Given the description of an element on the screen output the (x, y) to click on. 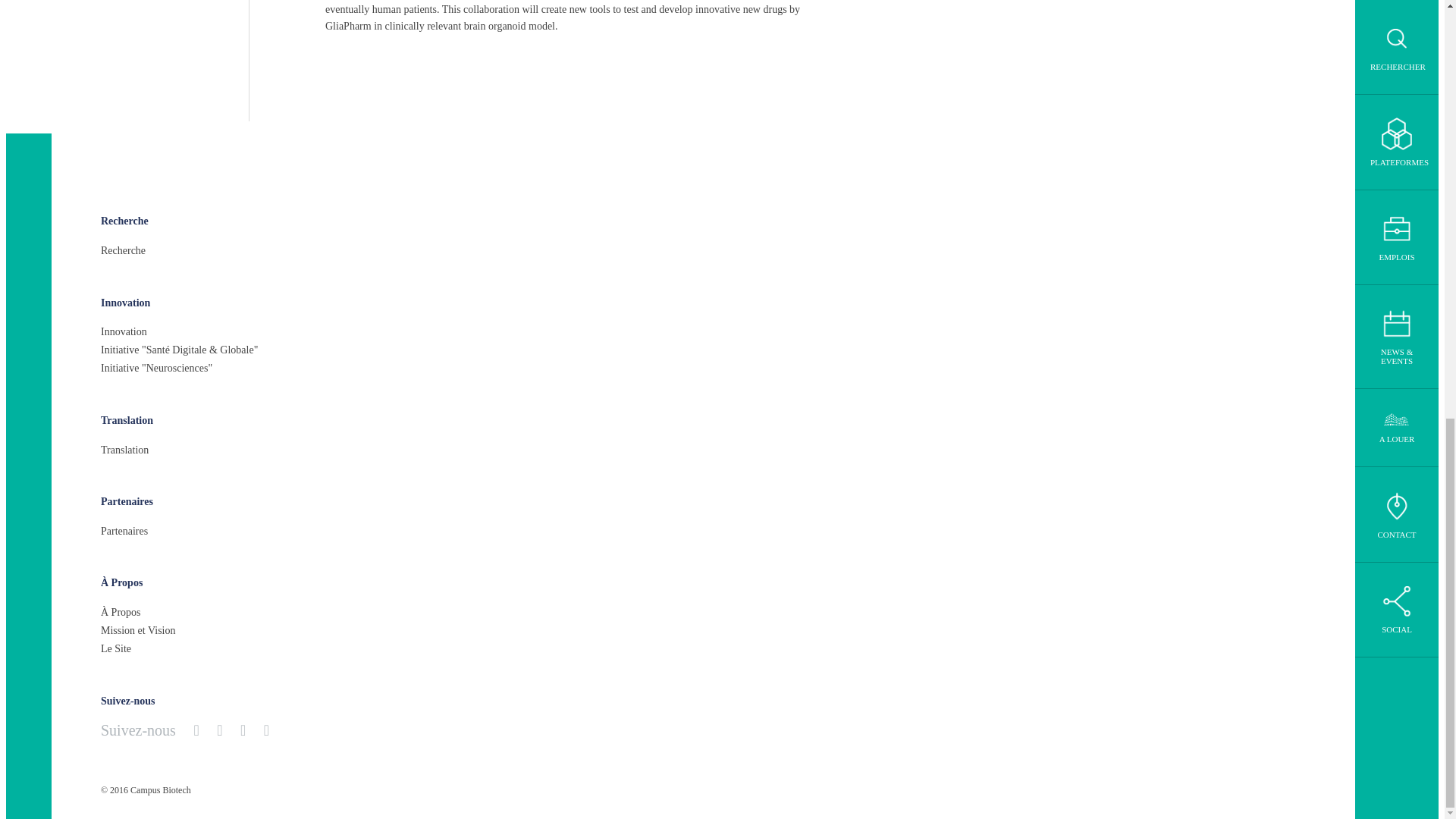
Innovation (124, 303)
Translation (126, 420)
Mission et Vision (137, 630)
Initiative "Neurosciences" (156, 368)
Partenaires (126, 501)
Recherche (124, 221)
Partenaires (124, 531)
Translation (124, 449)
Innovation (123, 331)
Recherche (122, 250)
